Given the description of an element on the screen output the (x, y) to click on. 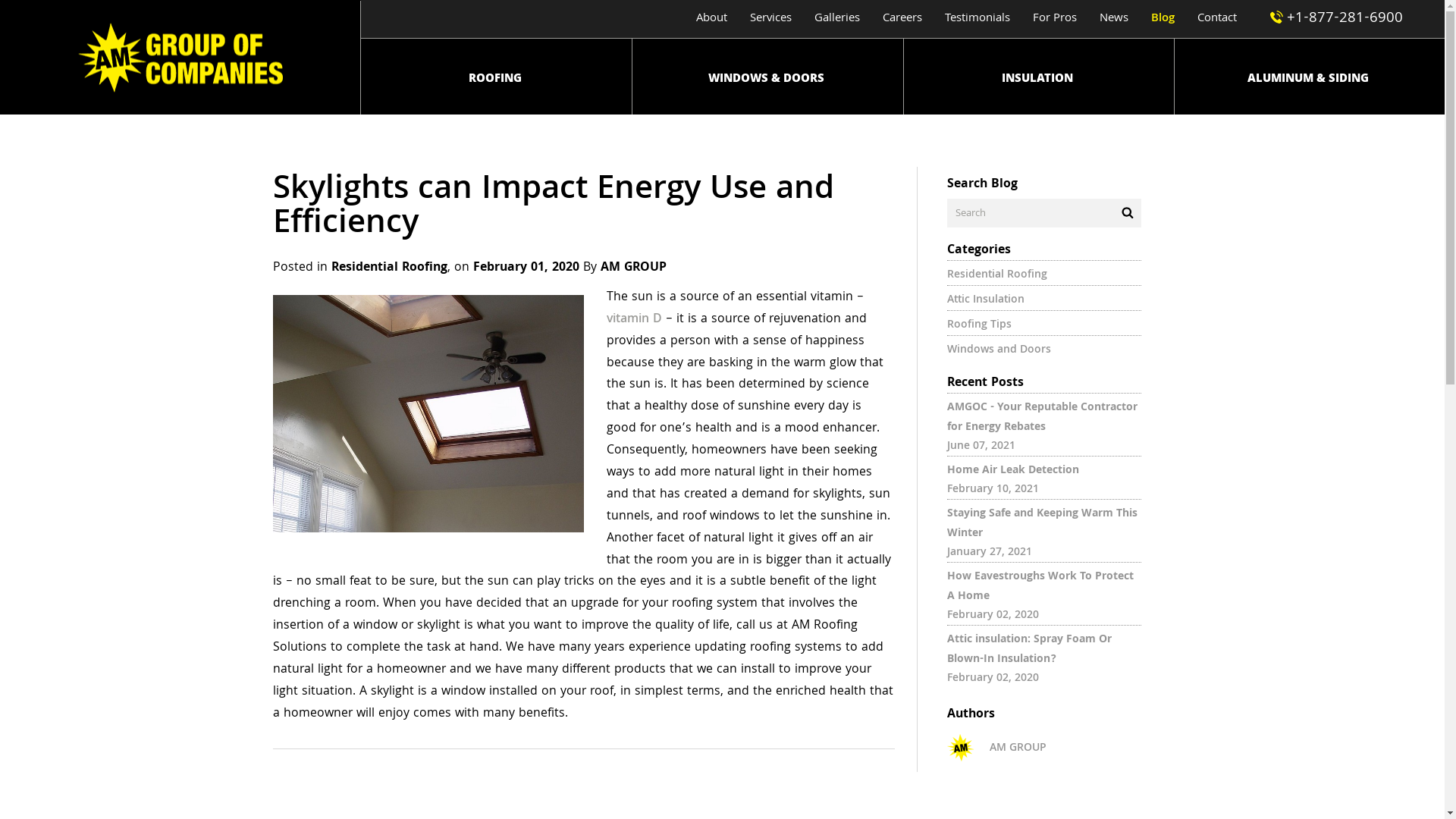
WINDOWS & DOORS Element type: text (765, 76)
Attic Insulation Element type: text (985, 300)
About Element type: text (711, 18)
Roofing Tips Element type: text (979, 325)
Contact Element type: text (1217, 18)
Testimonials Element type: text (977, 18)
Residential Roofing Element type: text (389, 267)
ALUMINUM & SIDING Element type: text (1307, 76)
How Eavestroughs Work To Protect A Home
February 02, 2020 Element type: text (1044, 592)
INSULATION Element type: text (1036, 76)
News Element type: text (1113, 18)
AM GROUP Element type: text (996, 748)
Services Element type: text (770, 18)
+1-877-281-6900 Element type: text (1326, 18)
Staying Safe and Keeping Warm This Winter
January 27, 2021 Element type: text (1044, 529)
Blog Element type: text (1162, 18)
Careers Element type: text (902, 18)
Windows and Doors Element type: text (999, 350)
Home Air Leak Detection
February 10, 2021 Element type: text (1044, 476)
Galleries Element type: text (837, 18)
For Pros Element type: text (1054, 18)
ROOFING Element type: text (494, 76)
Residential Roofing Element type: text (997, 275)
vitamin D Element type: text (634, 320)
